Given the description of an element on the screen output the (x, y) to click on. 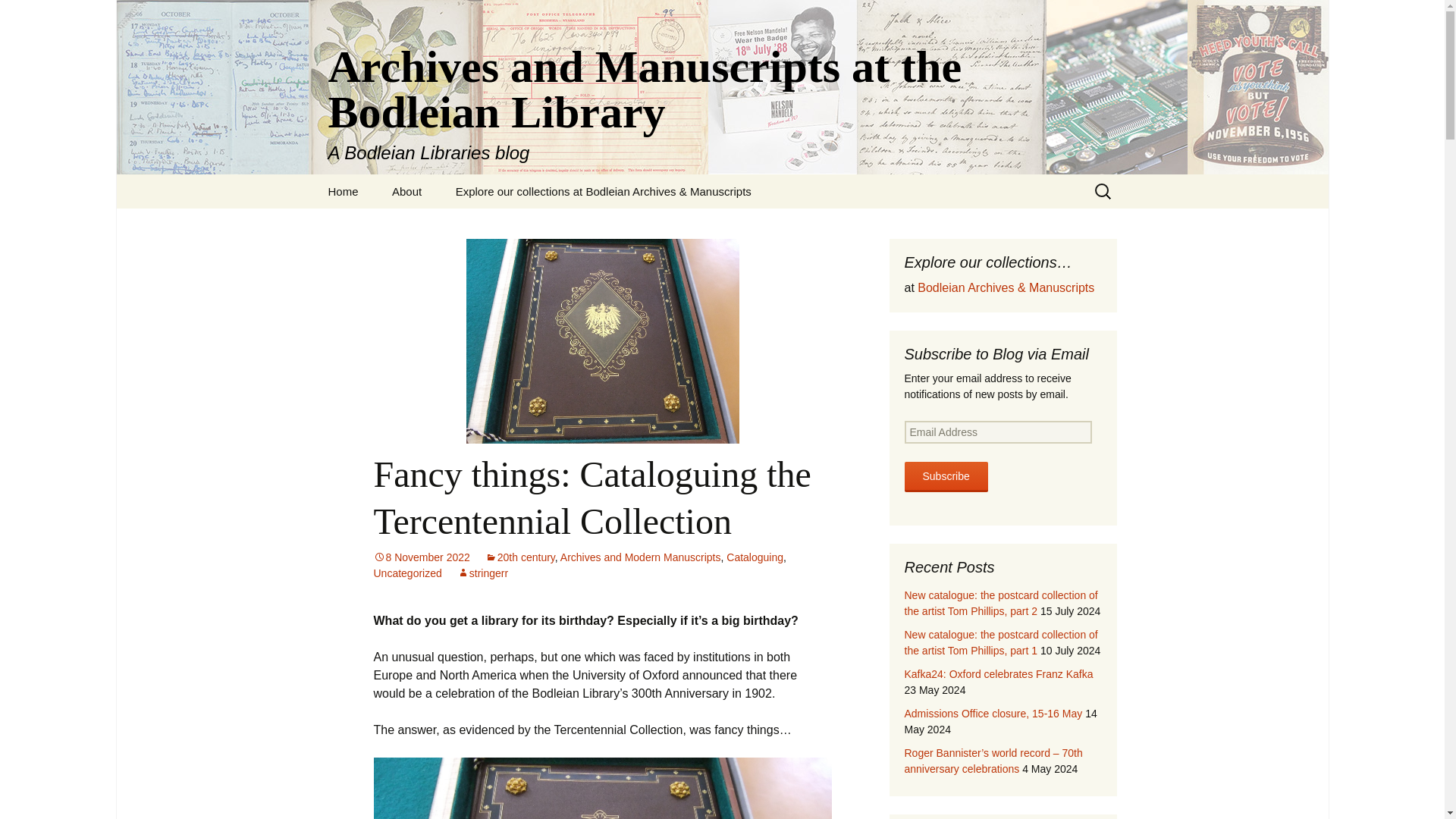
Archives and Modern Manuscripts (640, 557)
Subscribe (945, 476)
Home (342, 191)
Kafka24: Oxford celebrates Franz Kafka (998, 674)
Uncategorized (406, 573)
stringerr (482, 573)
20th century (519, 557)
About (406, 191)
View all posts by stringerr (482, 573)
